Given the description of an element on the screen output the (x, y) to click on. 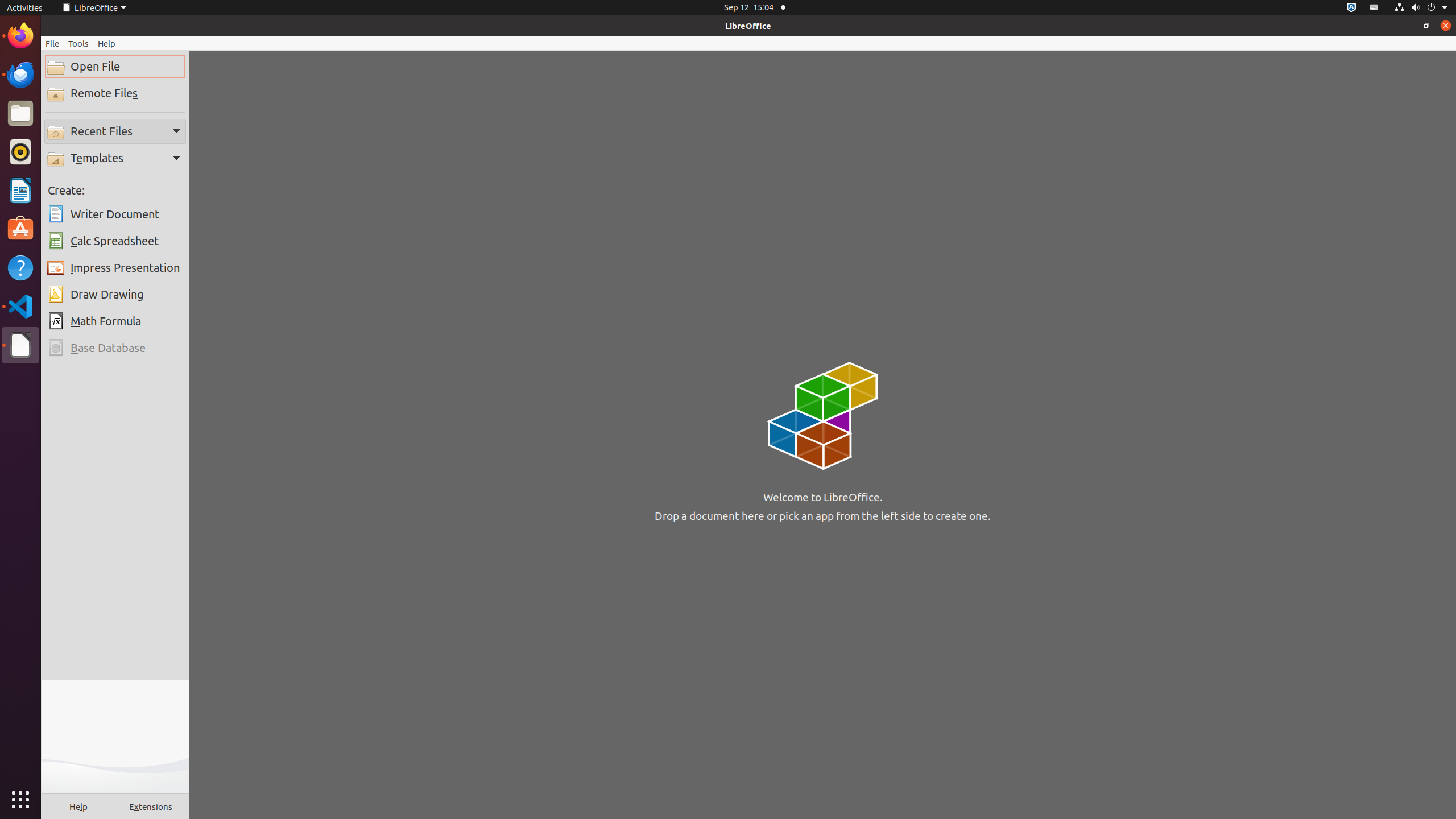
Impress Presentation Element type: push-button (114, 267)
Calc Spreadsheet Element type: push-button (114, 240)
